Given the description of an element on the screen output the (x, y) to click on. 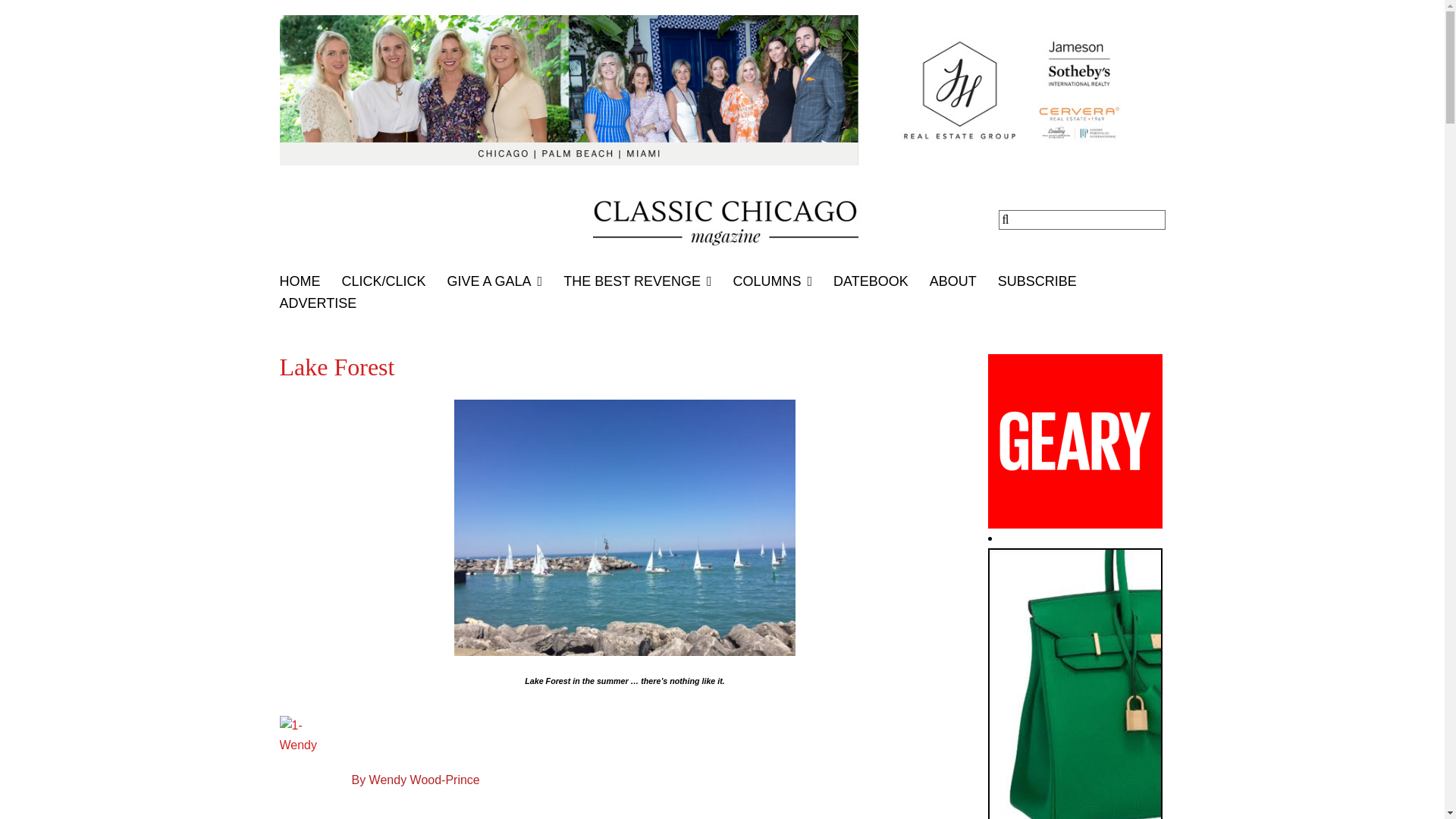
HOME (309, 281)
THE BEST REVENGE (647, 281)
COLUMNS (782, 281)
GIVE A GALA (505, 281)
